Given the description of an element on the screen output the (x, y) to click on. 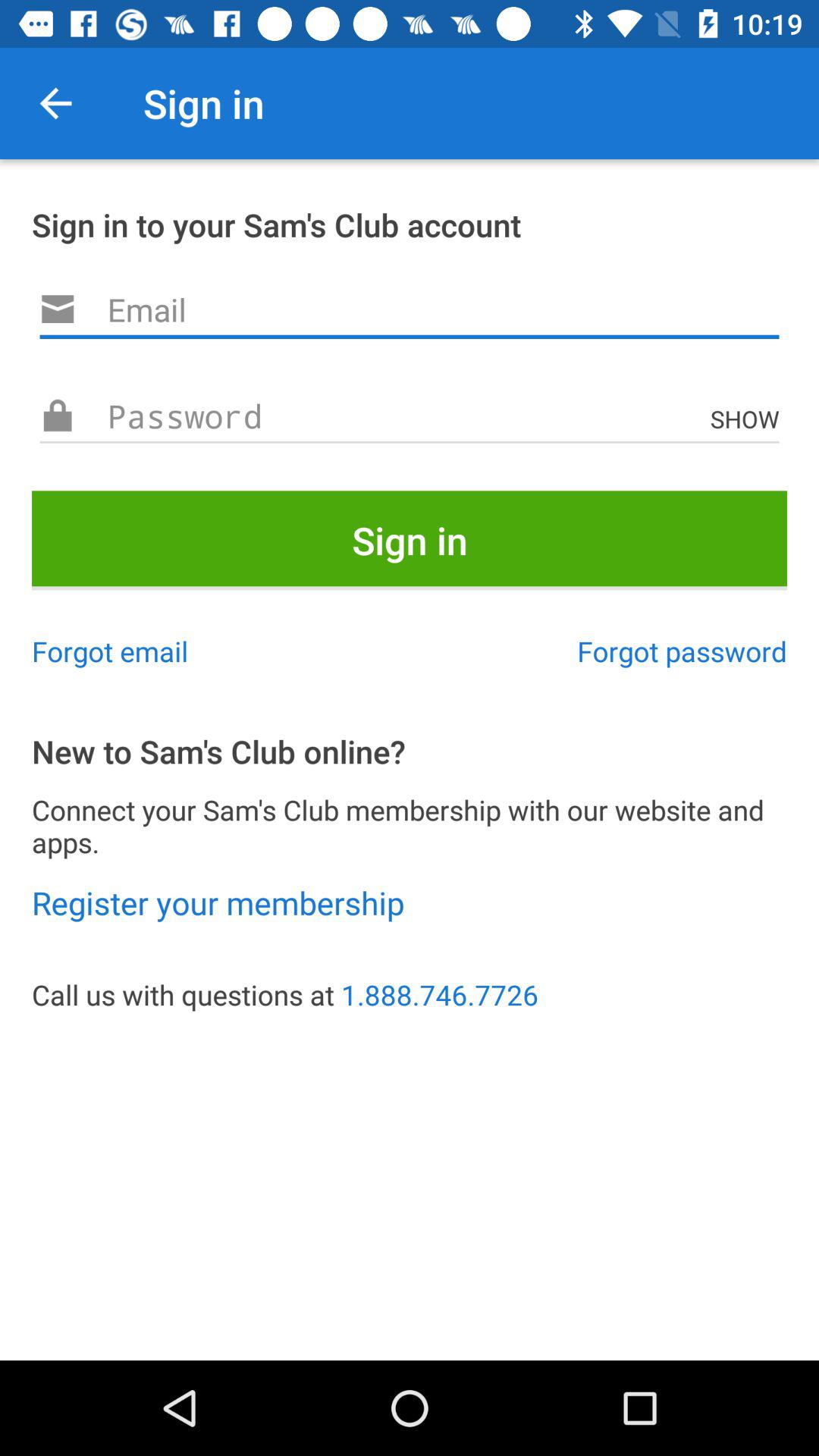
press icon below sign in item (109, 650)
